Given the description of an element on the screen output the (x, y) to click on. 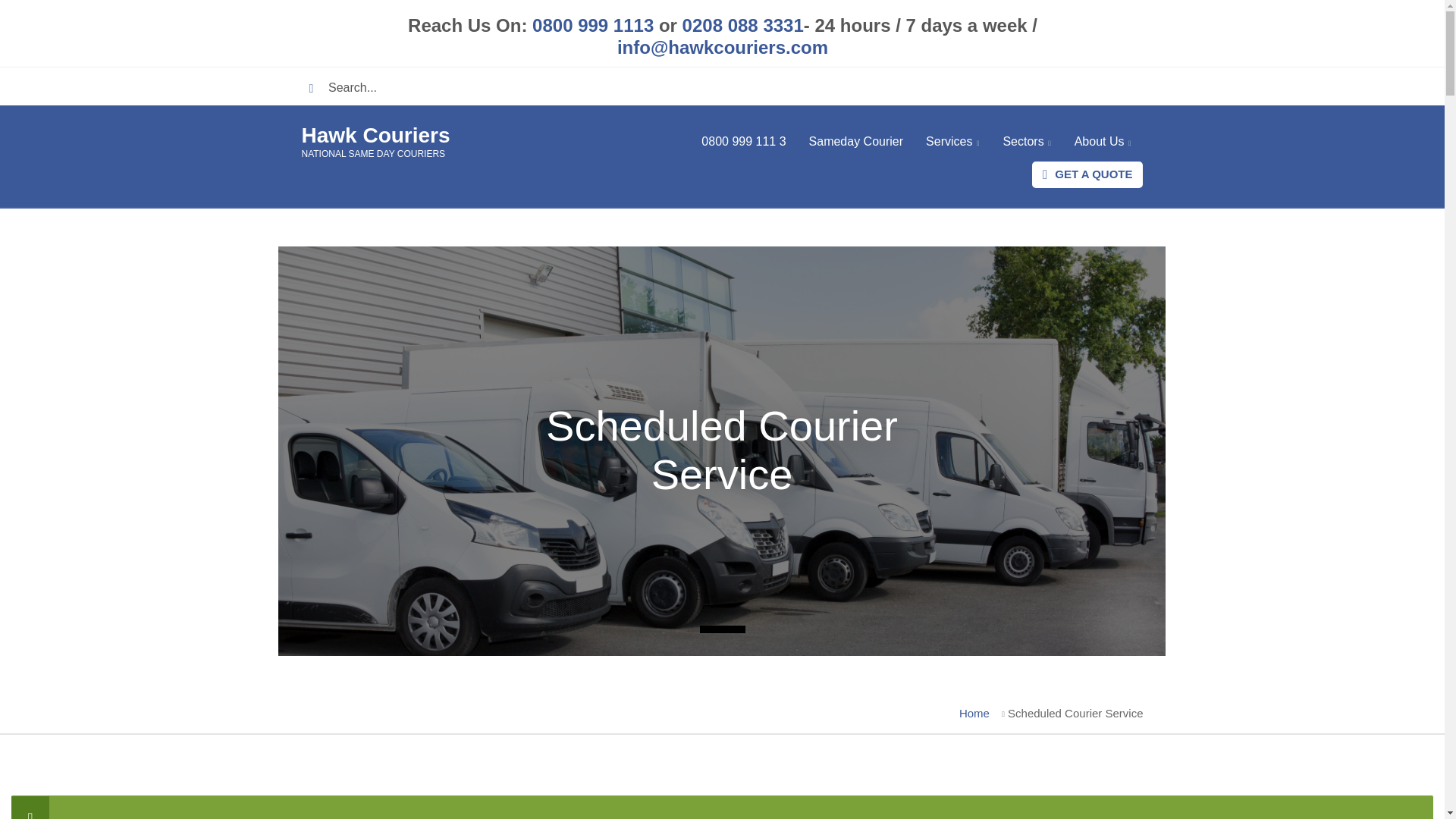
youtube (1123, 86)
linkedin (1086, 86)
Search (316, 88)
Search (316, 88)
Search (316, 88)
0208 088 3331 (742, 25)
Enter the terms you wish to search for. (626, 87)
twitter (1048, 86)
Hawk Couriers (375, 135)
